Given the description of an element on the screen output the (x, y) to click on. 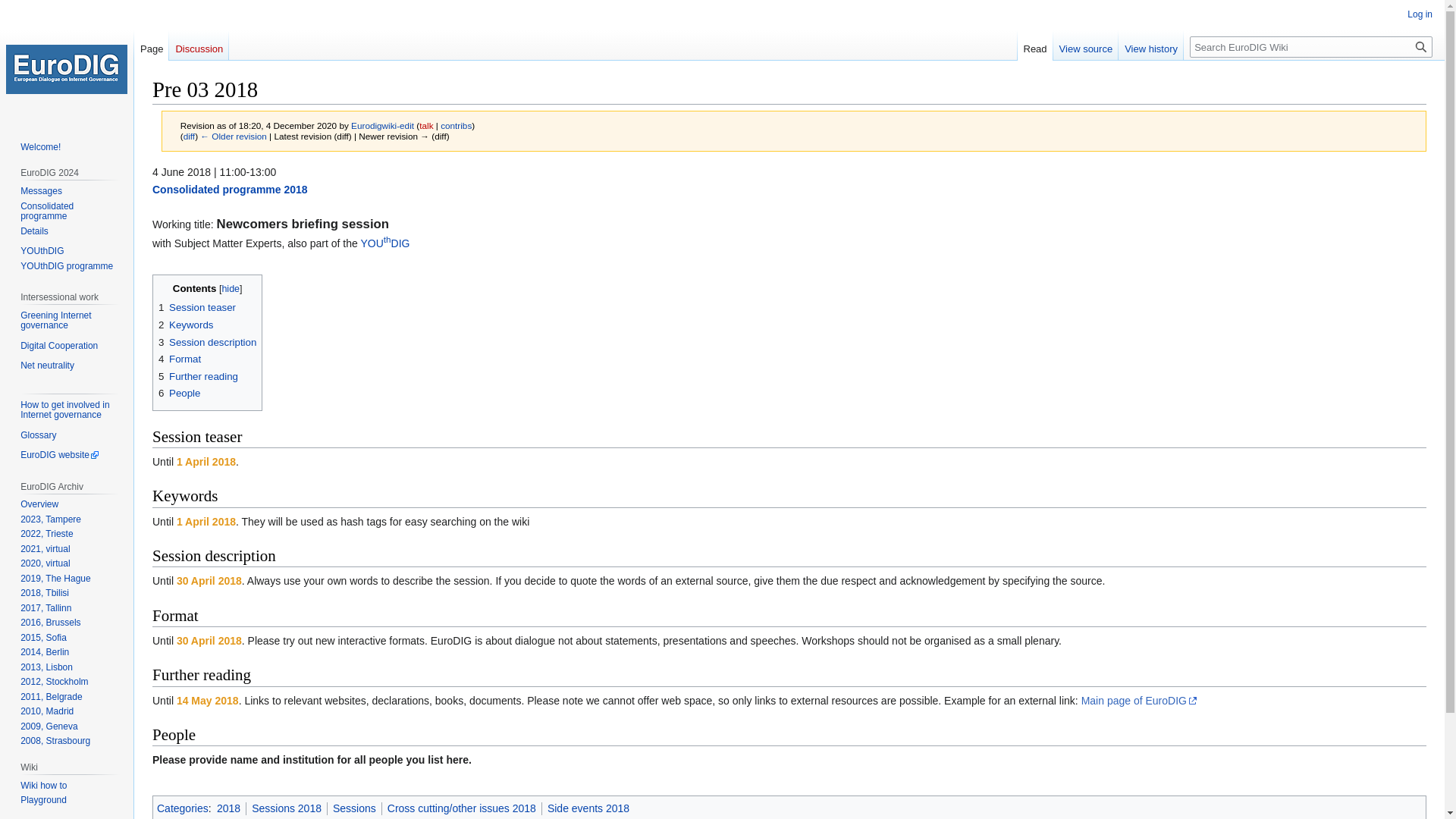
Discussion (198, 45)
Consolidated programme 2018 (229, 189)
YOUthDIG (42, 250)
Consolidated programme 2018 (229, 189)
6 People (179, 392)
View source (1085, 45)
User:Eurodigwiki-edit (381, 125)
Search (1420, 46)
5 Further reading (198, 376)
